Given the description of an element on the screen output the (x, y) to click on. 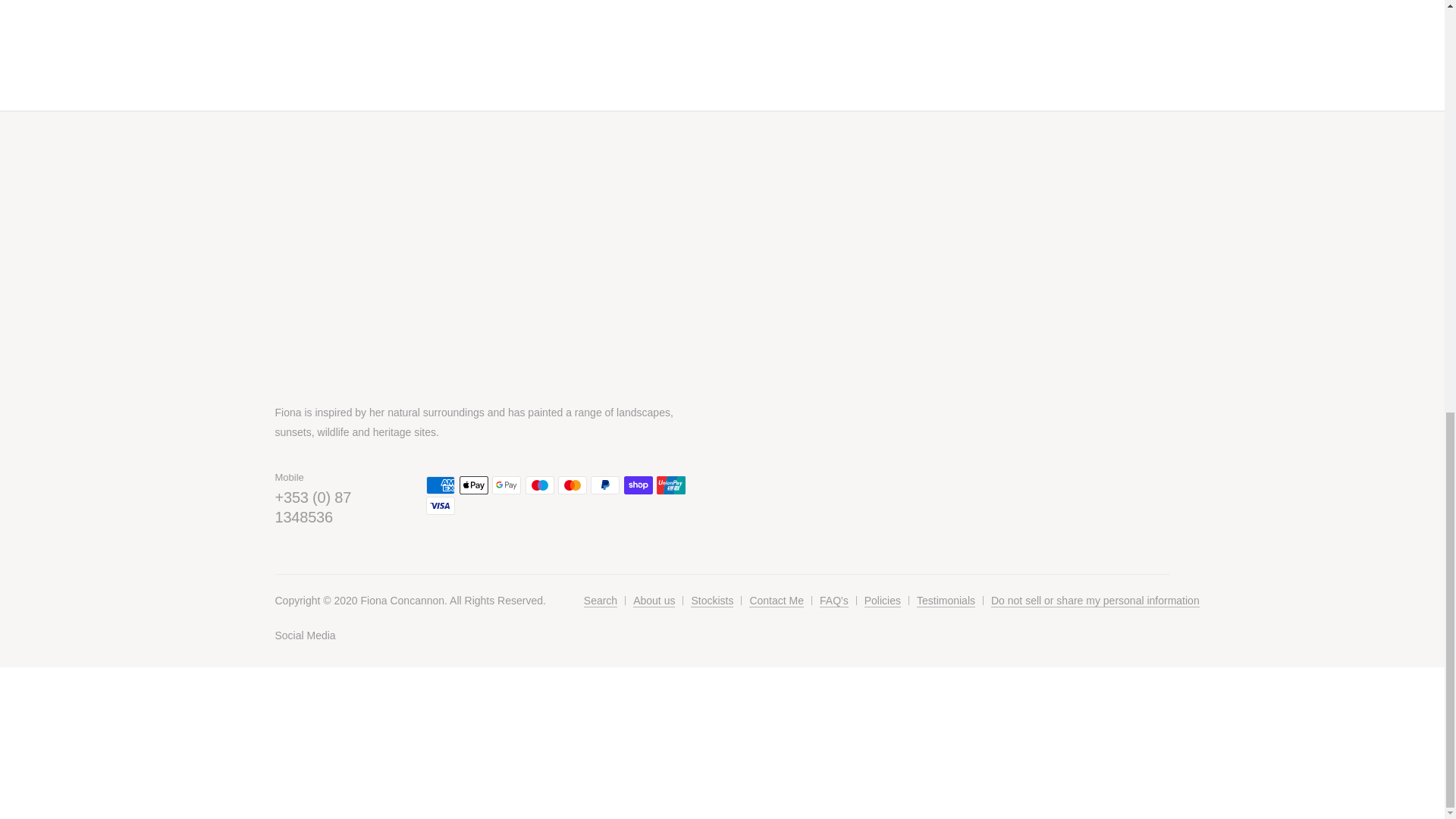
1 (984, 767)
Google Pay (506, 484)
Maestro (539, 484)
PayPal (605, 484)
Mastercard (571, 484)
Union Pay (670, 484)
American Express (440, 484)
Blackrock Diving Tower (307, 766)
Visa (440, 505)
Apple Pay (473, 484)
